Given the description of an element on the screen output the (x, y) to click on. 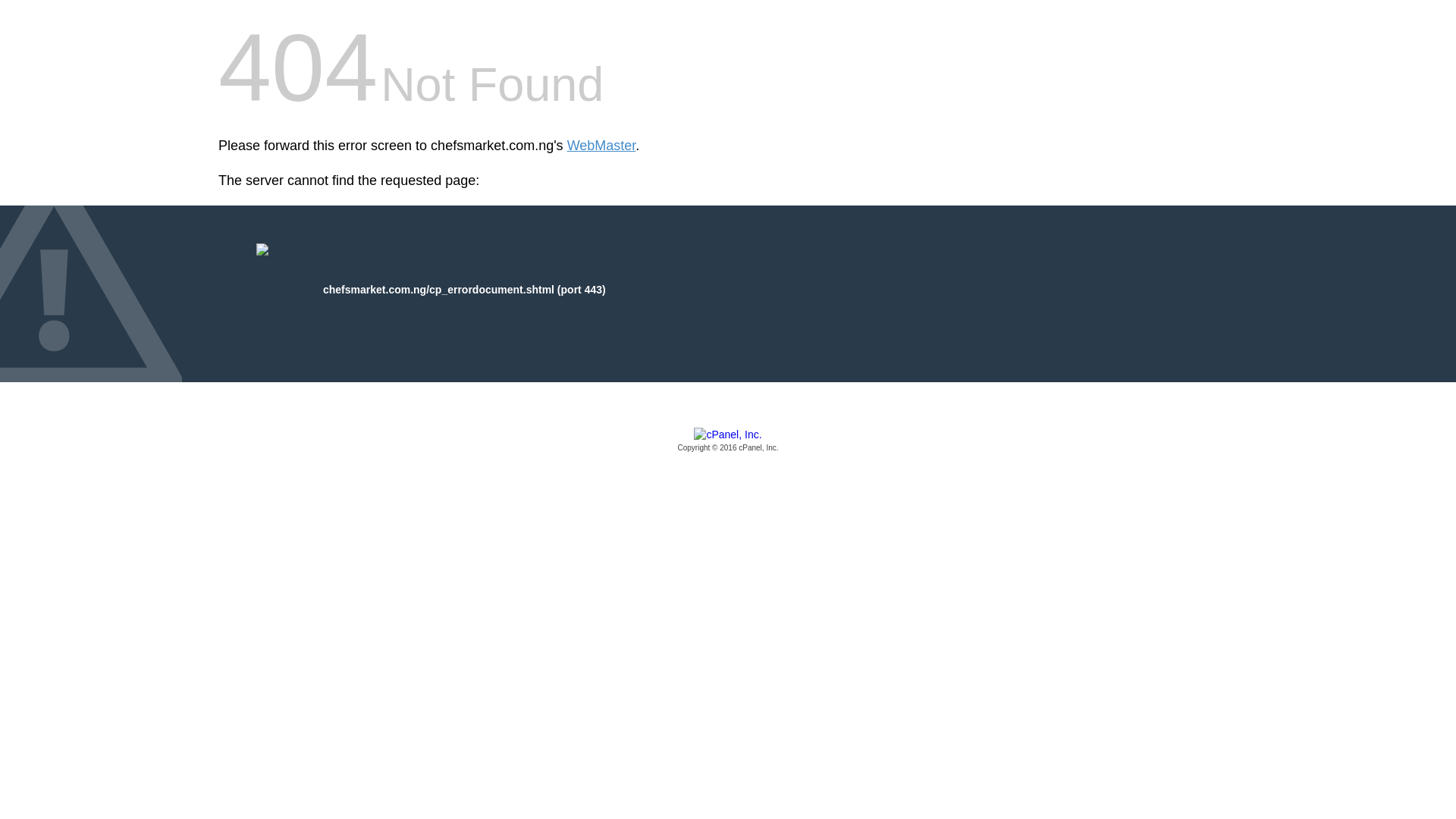
WebMaster (601, 145)
cPanel, Inc. (727, 440)
